Given the description of an element on the screen output the (x, y) to click on. 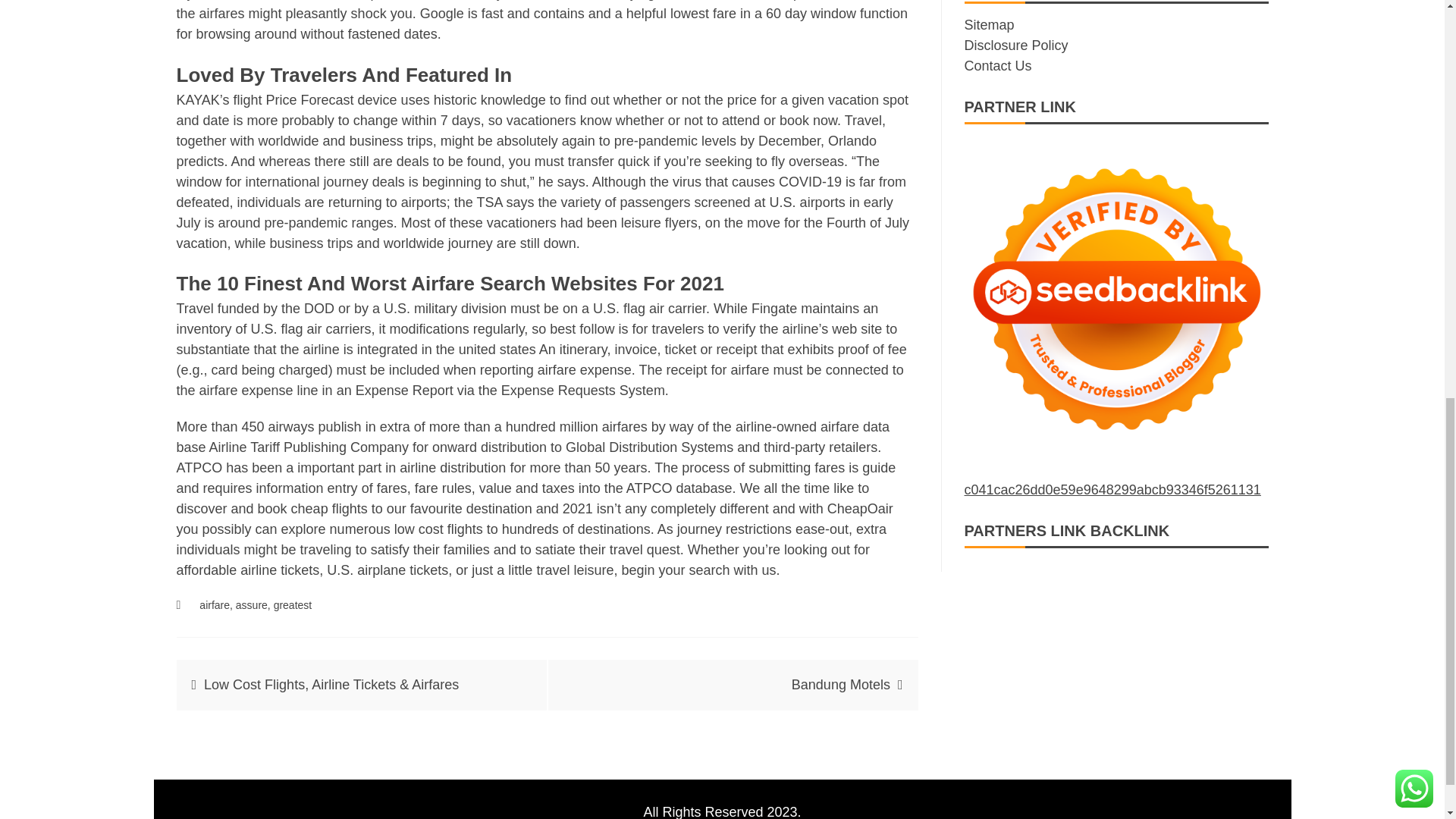
airfare (214, 604)
greatest (293, 604)
Bandung Motels (840, 684)
assure (251, 604)
Seedbacklink (1115, 299)
